Given the description of an element on the screen output the (x, y) to click on. 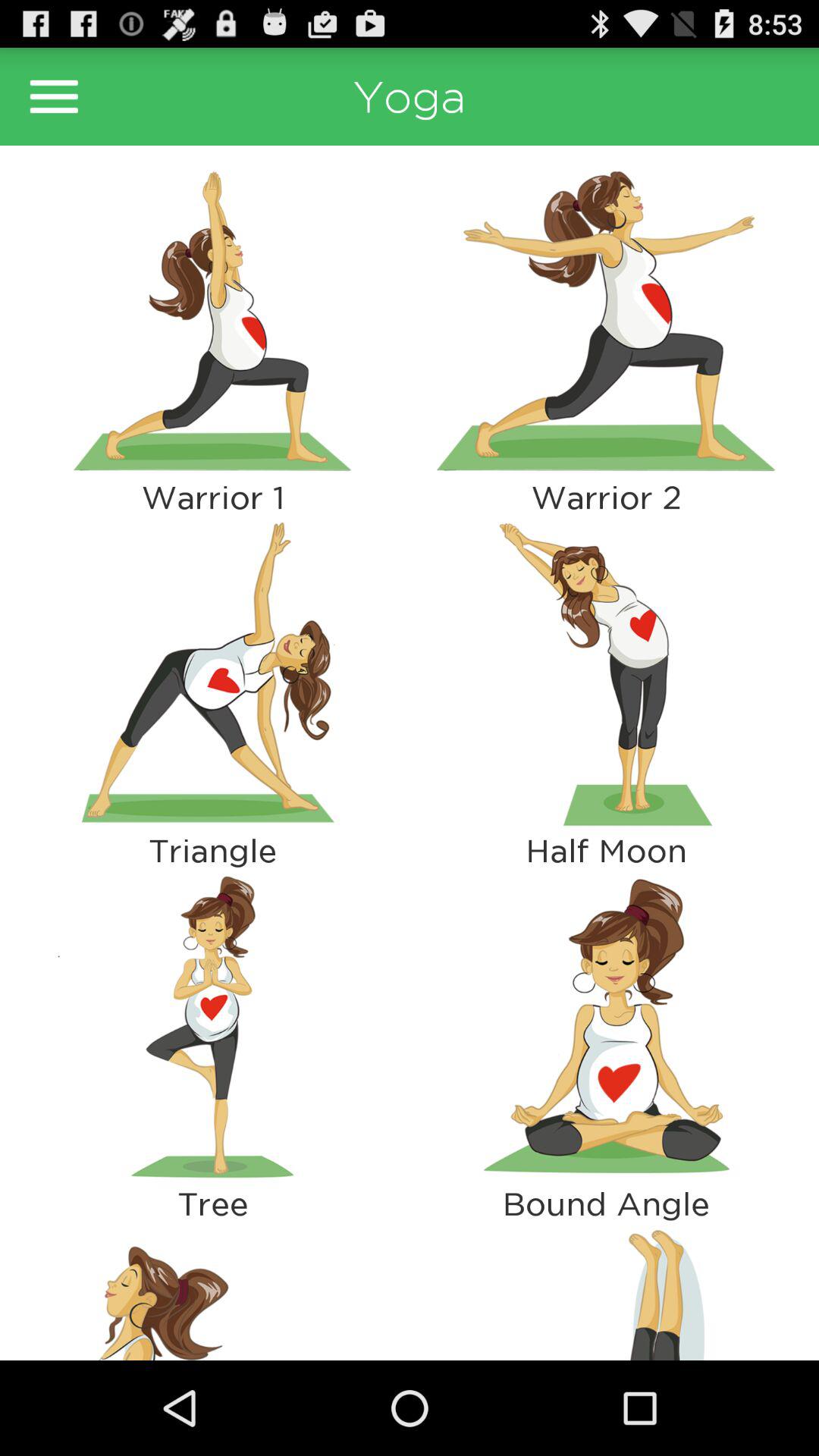
criss cross pose (606, 1026)
